Given the description of an element on the screen output the (x, y) to click on. 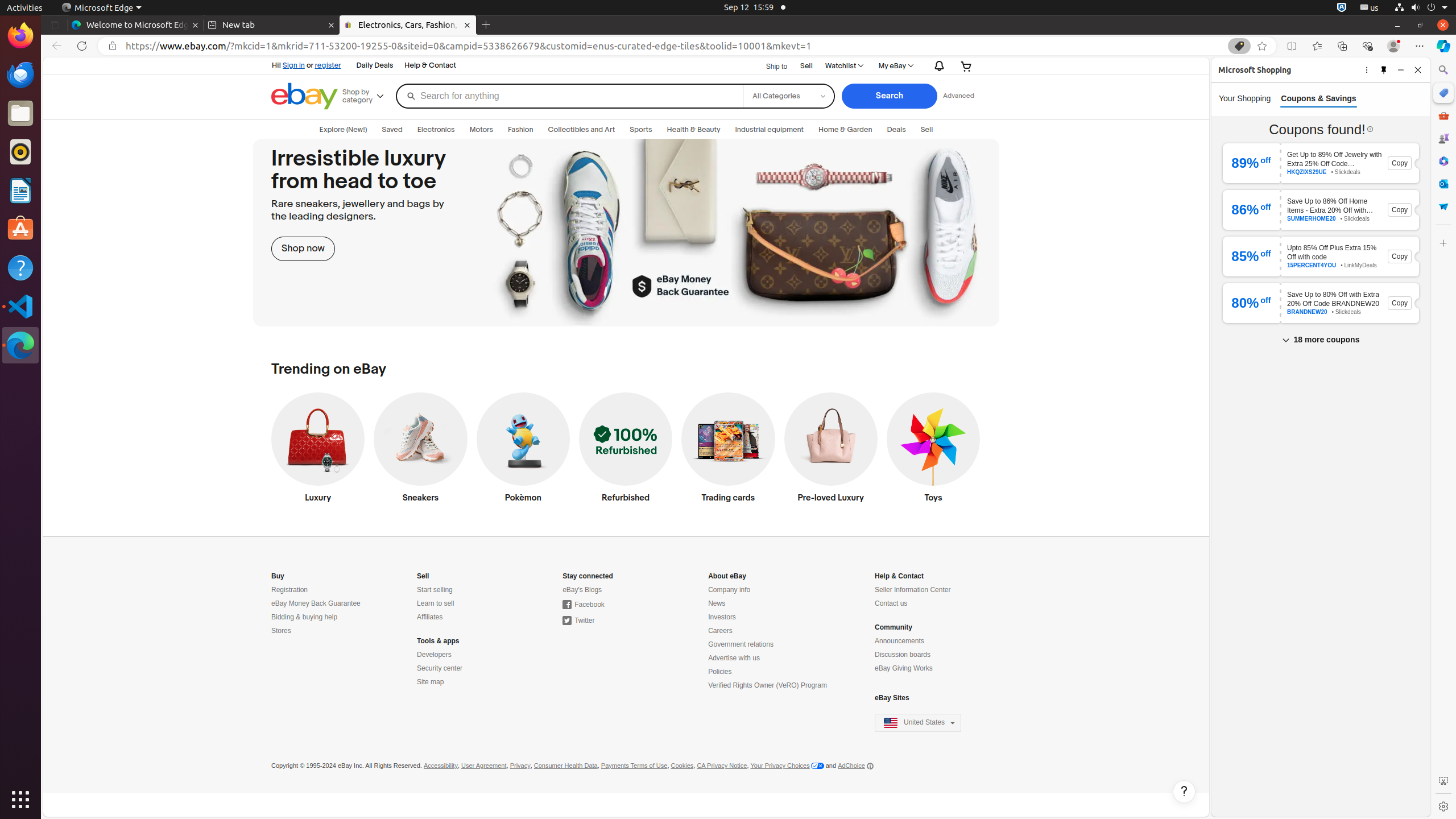
New Tab Element type: push-button (486, 25)
80 % off Save Up to 80% Off with Extra 20% Off Code BRANDNEW20 BRANDNEW20 • Slickdeals Copy Element type: push-button (1320, 303)
Split screen Element type: push-button (1291, 45)
Notifications Element type: push-button (936, 65)
Verified Rights Owner (VeRO) Program Element type: link (767, 685)
